Given the description of an element on the screen output the (x, y) to click on. 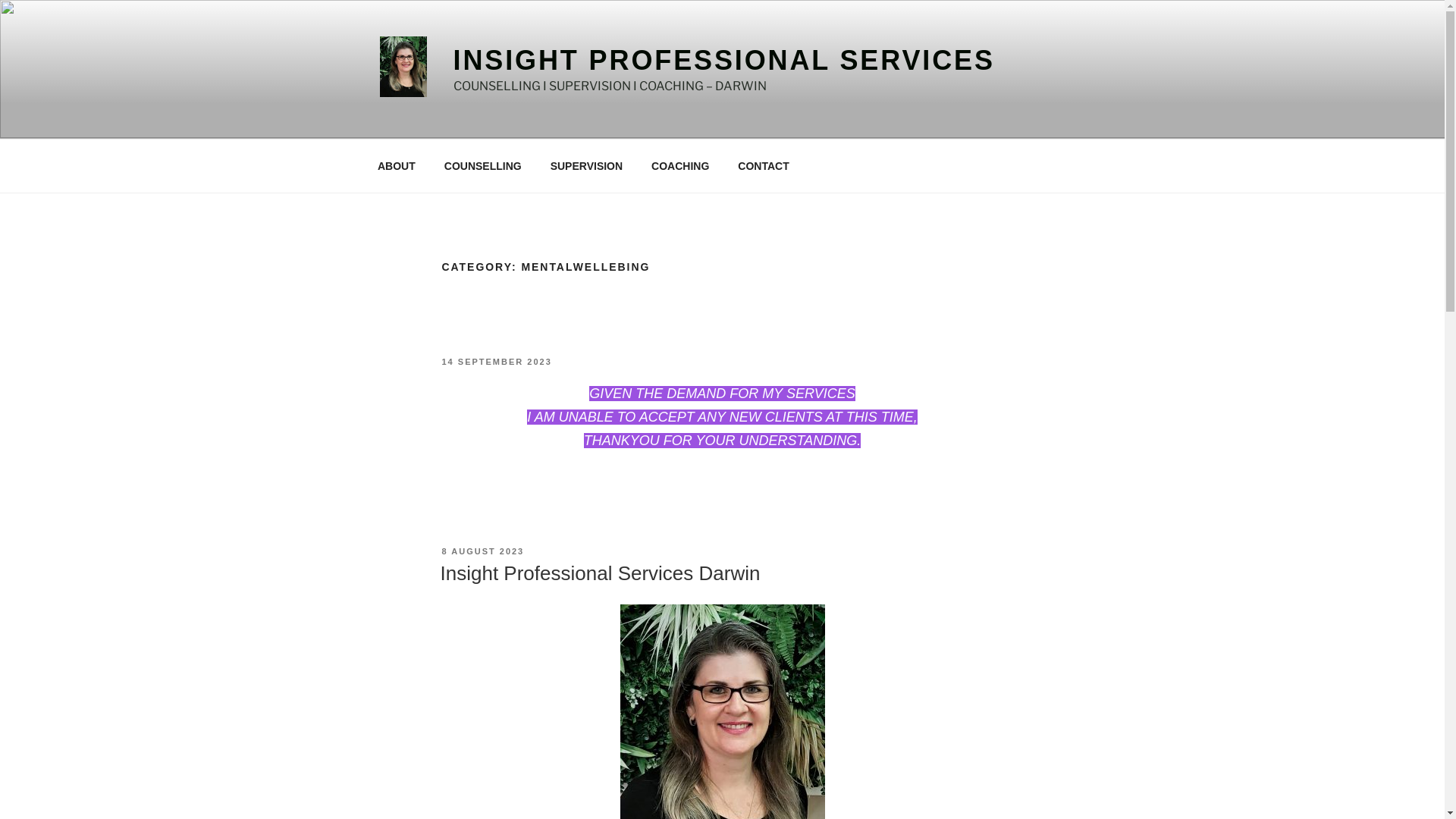
SUPERVISION Element type: text (585, 165)
INSIGHT PROFESSIONAL SERVICES Element type: text (723, 59)
COACHING Element type: text (680, 165)
ABOUT Element type: text (396, 165)
14 SEPTEMBER 2023 Element type: text (496, 361)
8 AUGUST 2023 Element type: text (482, 550)
Insight Professional Services Darwin Element type: text (599, 572)
COUNSELLING Element type: text (482, 165)
CONTACT Element type: text (763, 165)
